Given the description of an element on the screen output the (x, y) to click on. 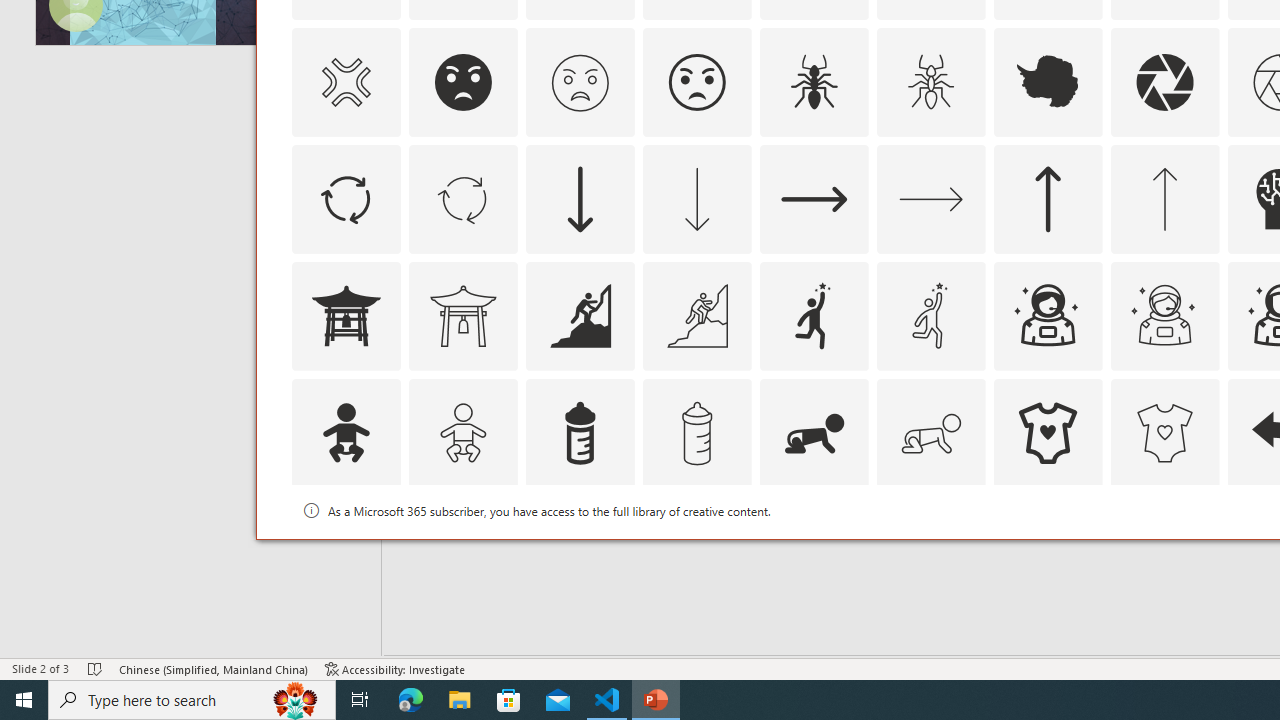
AutomationID: Icons_Aspiration_M (696, 316)
AutomationID: Icons_BabyOnesie (1048, 432)
AutomationID: Icons_Badge3 (696, 550)
AutomationID: Icons_ArrowRight_M (930, 198)
AutomationID: Icons_BabyCrawling (813, 432)
AutomationID: Icons_AstronautFemale_M (1164, 316)
AutomationID: Icons_ArrowRight (813, 198)
AutomationID: Icons_ArrowUp_M (1164, 198)
AutomationID: Icons_Baby (345, 432)
AutomationID: Icons_Ant (813, 82)
